Given the description of an element on the screen output the (x, y) to click on. 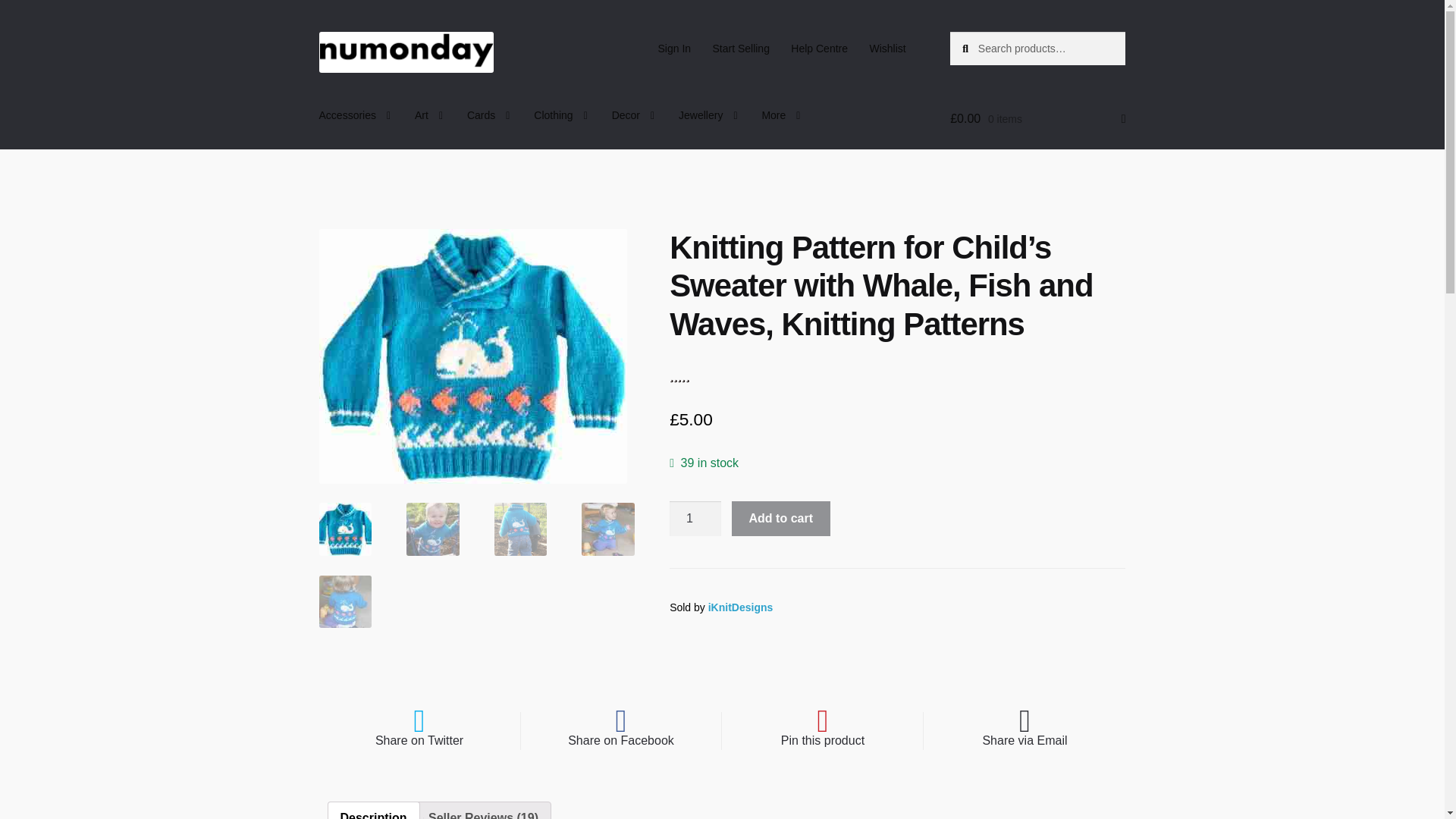
Art (428, 115)
Wishlist (887, 48)
Help Centre (819, 48)
1 (694, 518)
Start Selling (740, 48)
Sign In (673, 48)
Accessories (354, 115)
View your shopping cart (1037, 118)
